Given the description of an element on the screen output the (x, y) to click on. 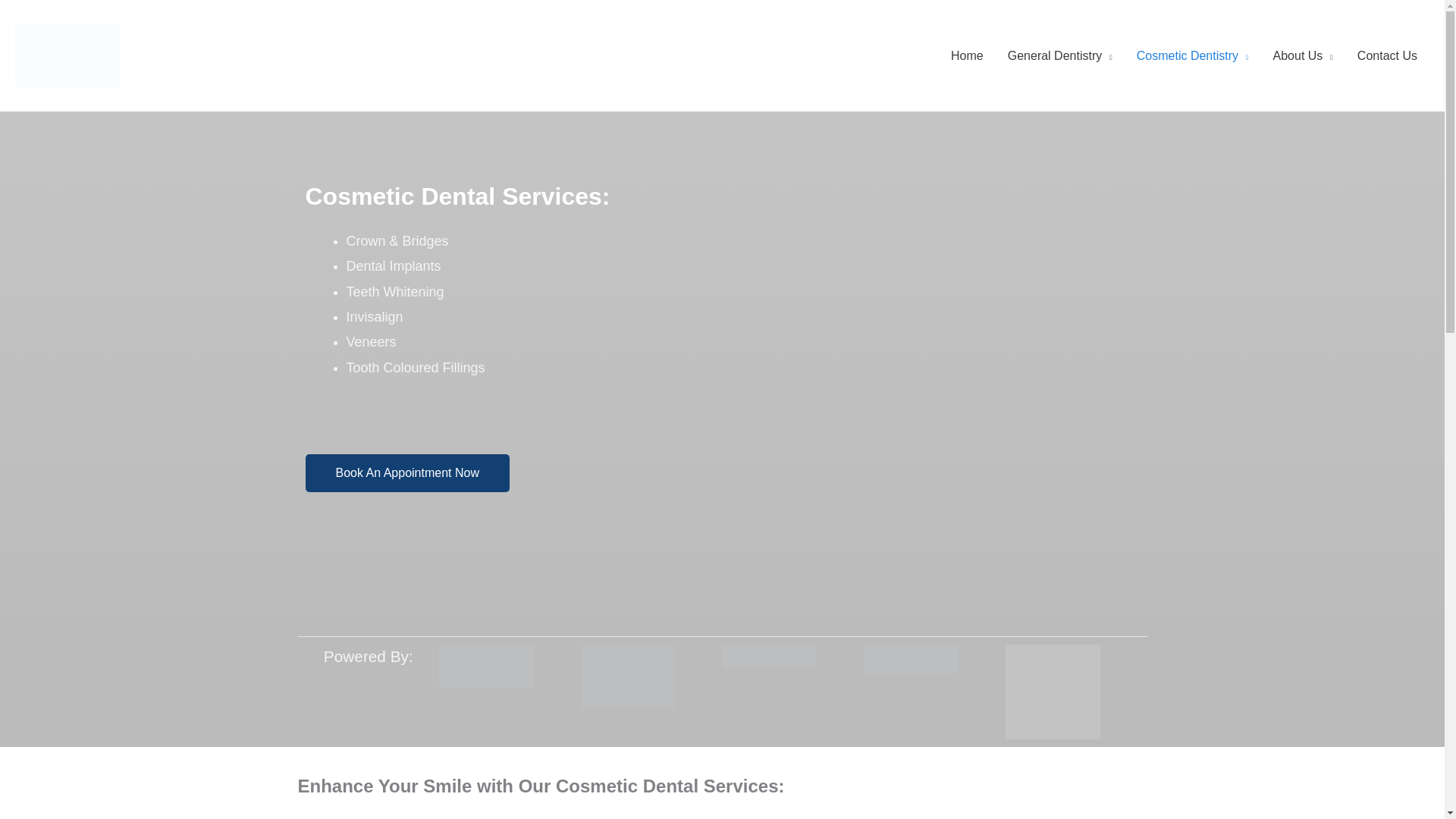
Book An Appointment Now Element type: text (406, 473)
Contact Us Element type: text (1387, 55)
General Dentistry Element type: text (1059, 55)
Cosmetic Dentistry Element type: text (1192, 55)
About Us Element type: text (1303, 55)
Home Element type: text (966, 55)
